Given the description of an element on the screen output the (x, y) to click on. 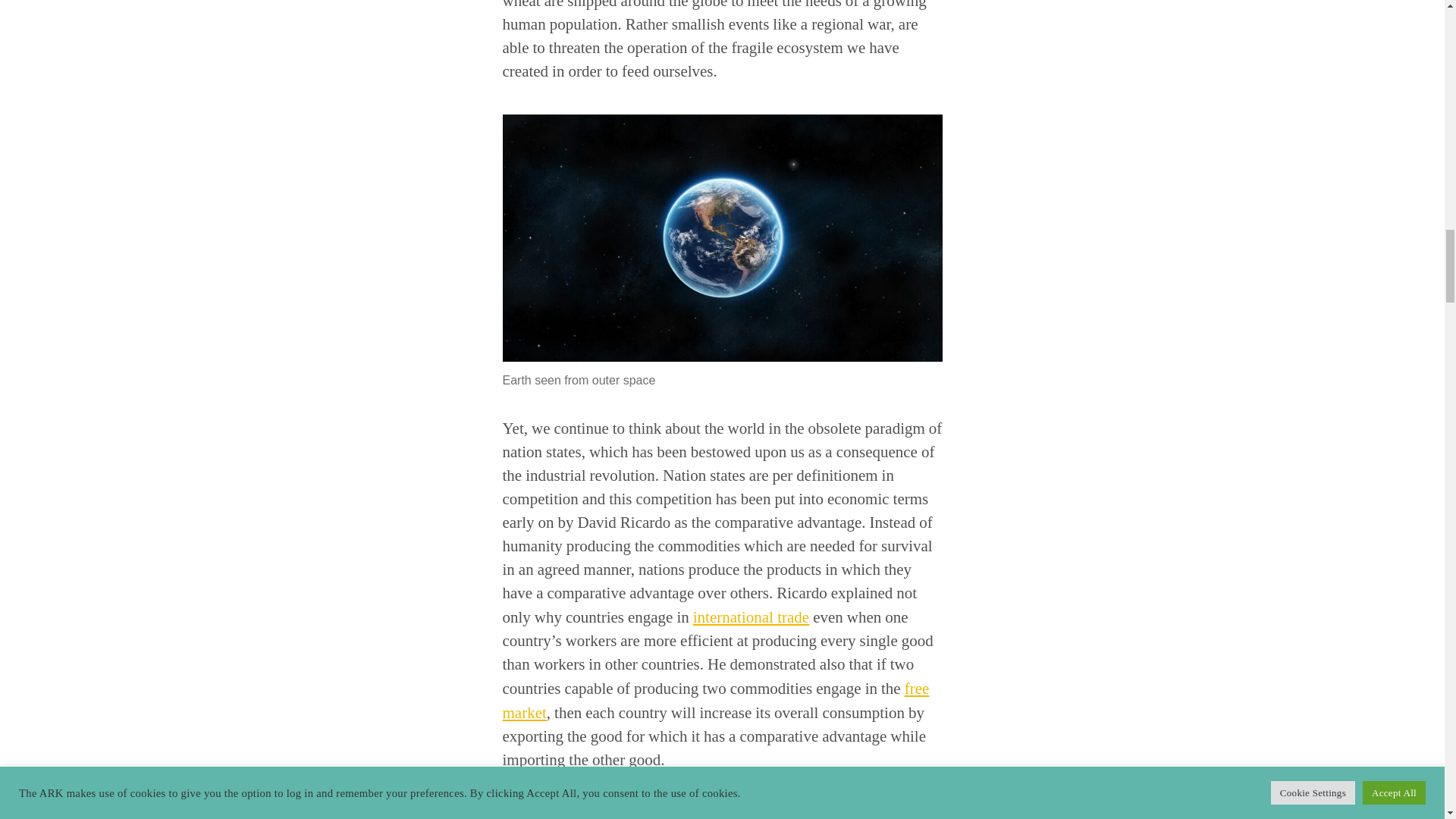
free market (715, 700)
international trade (751, 617)
